Given the description of an element on the screen output the (x, y) to click on. 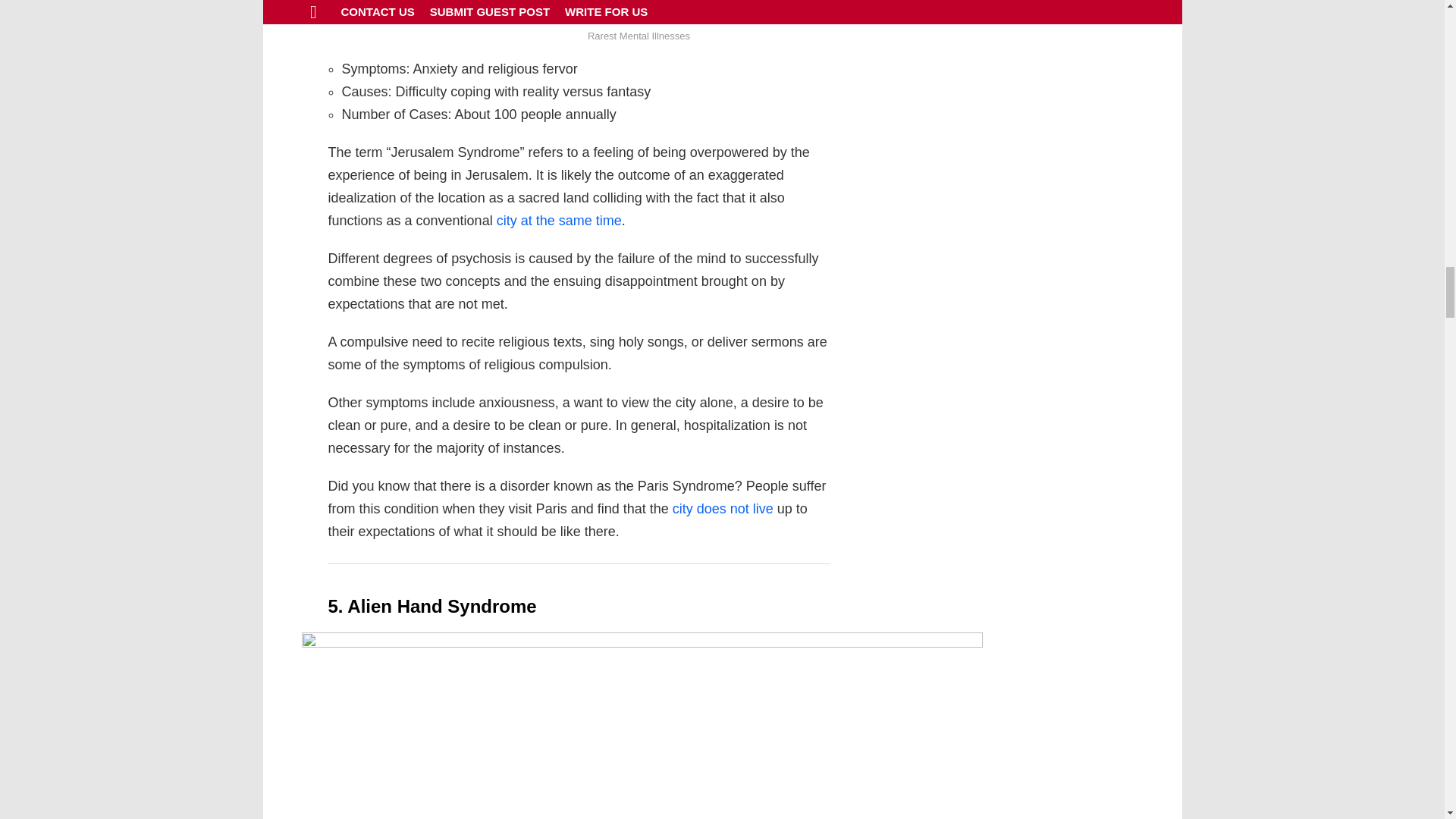
city at the same time (558, 220)
city does not live (722, 508)
